Given the description of an element on the screen output the (x, y) to click on. 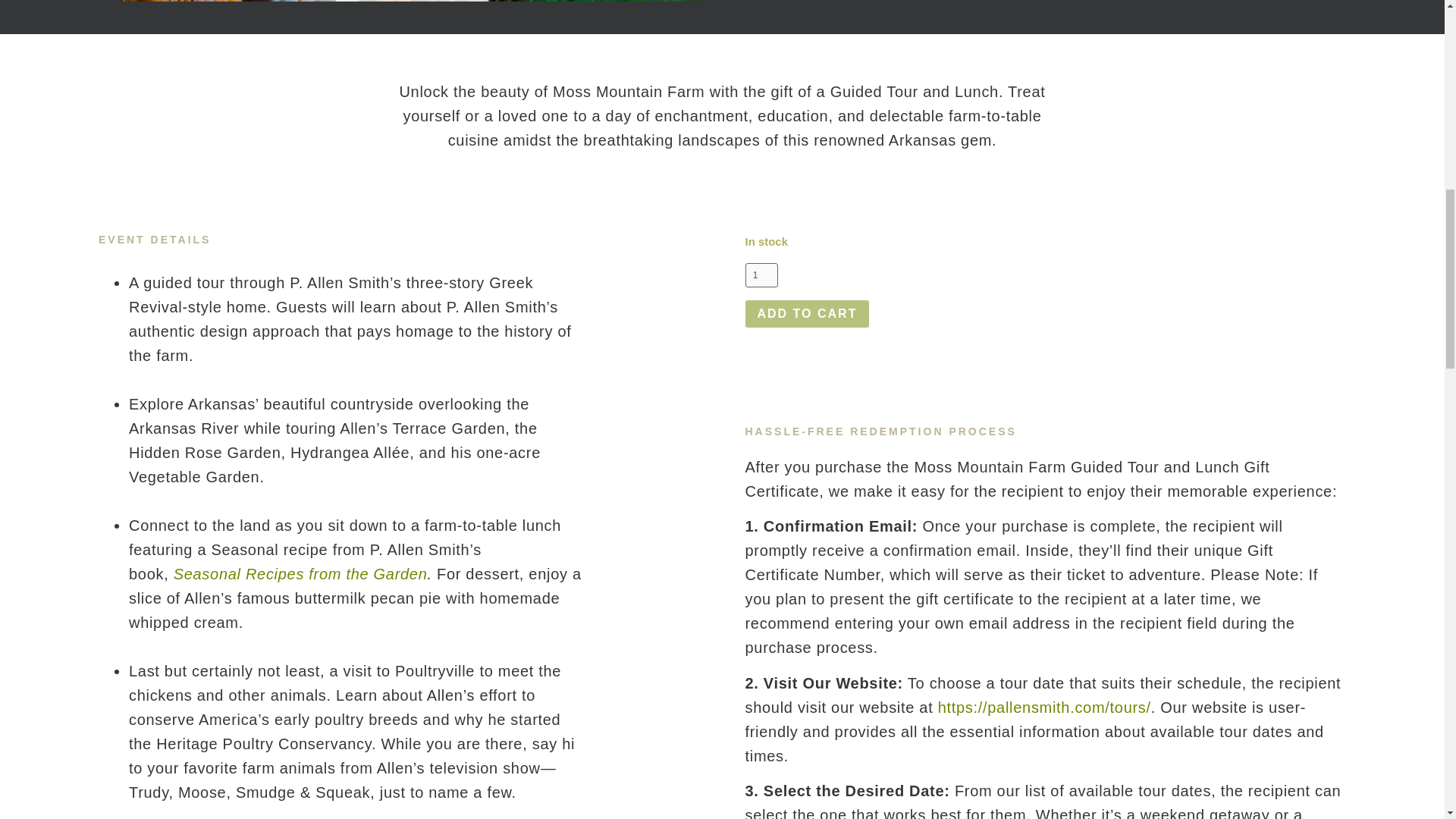
1 (760, 274)
